Given the description of an element on the screen output the (x, y) to click on. 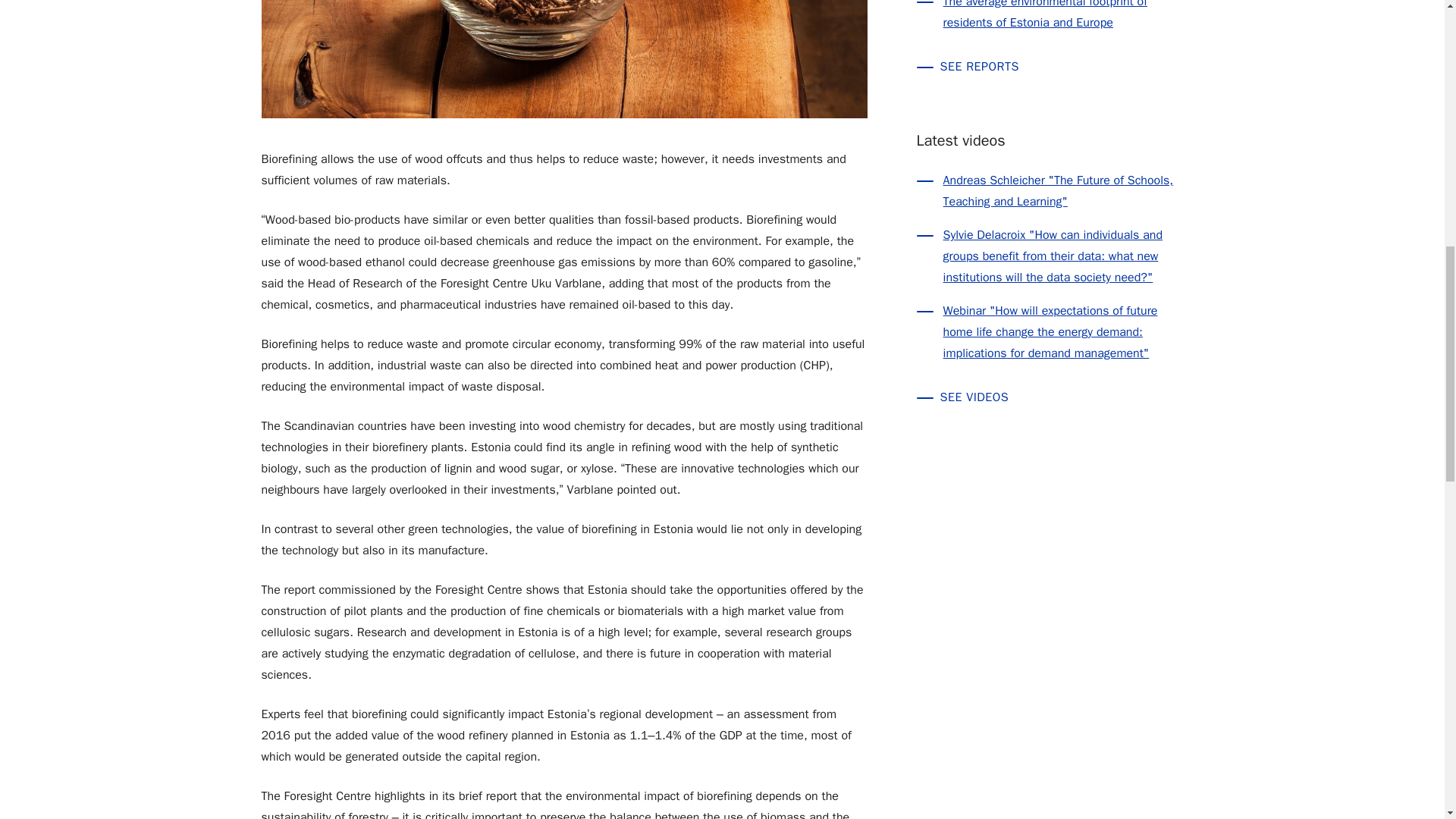
SEE VIDEOS (1050, 396)
SEE REPORTS (1050, 66)
